Given the description of an element on the screen output the (x, y) to click on. 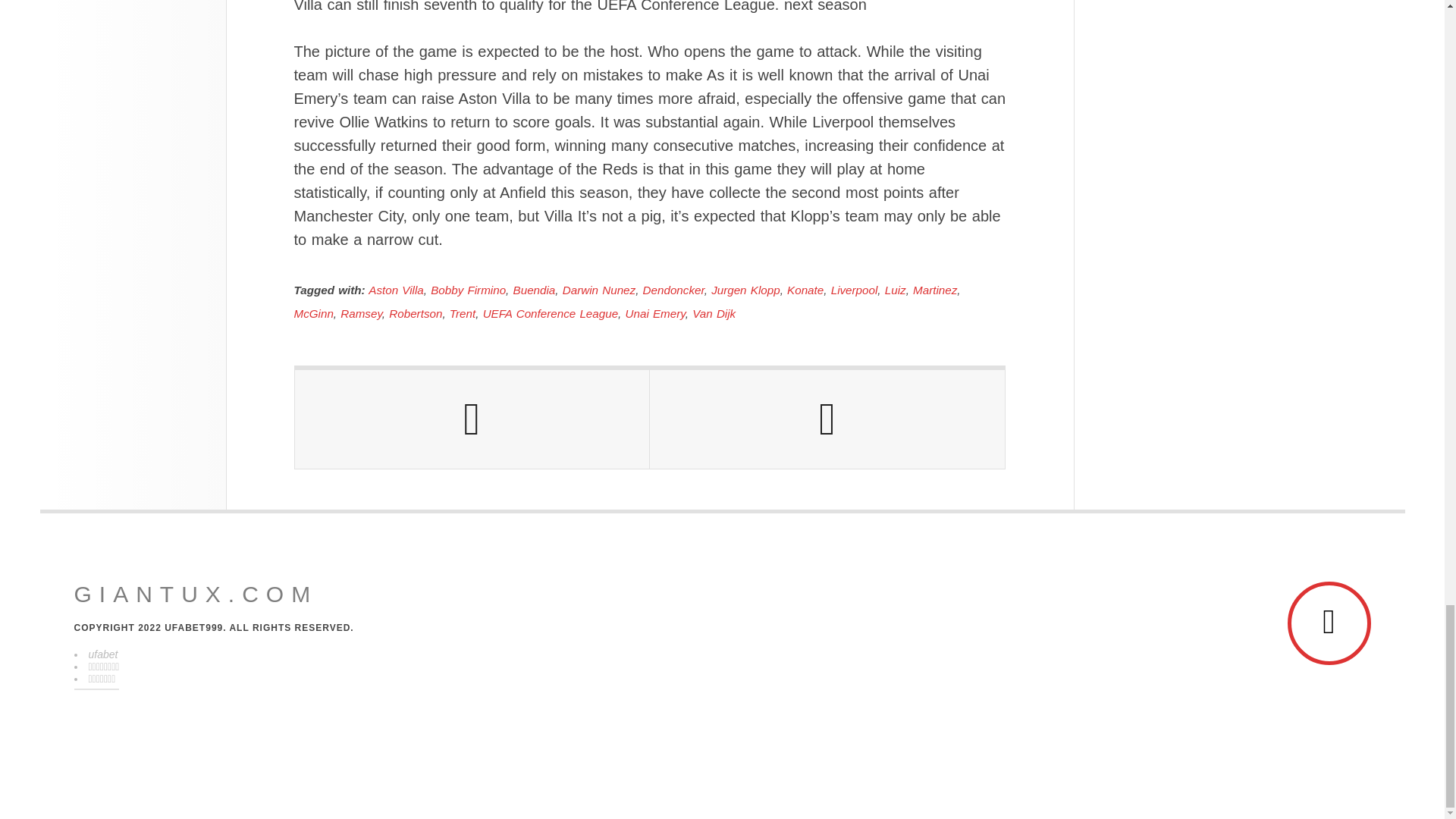
Previous Post (471, 419)
McGinn (313, 313)
Trent (462, 313)
Ramsey (360, 313)
Martinez (934, 289)
Next Post (826, 419)
Unai Emery (655, 313)
Jurgen Klopp (745, 289)
Van Dijk (714, 313)
Darwin Nunez (598, 289)
Liverpool (854, 289)
Robertson (415, 313)
Bobby Firmino (467, 289)
UEFA Conference League (550, 313)
Aston Villa (395, 289)
